Given the description of an element on the screen output the (x, y) to click on. 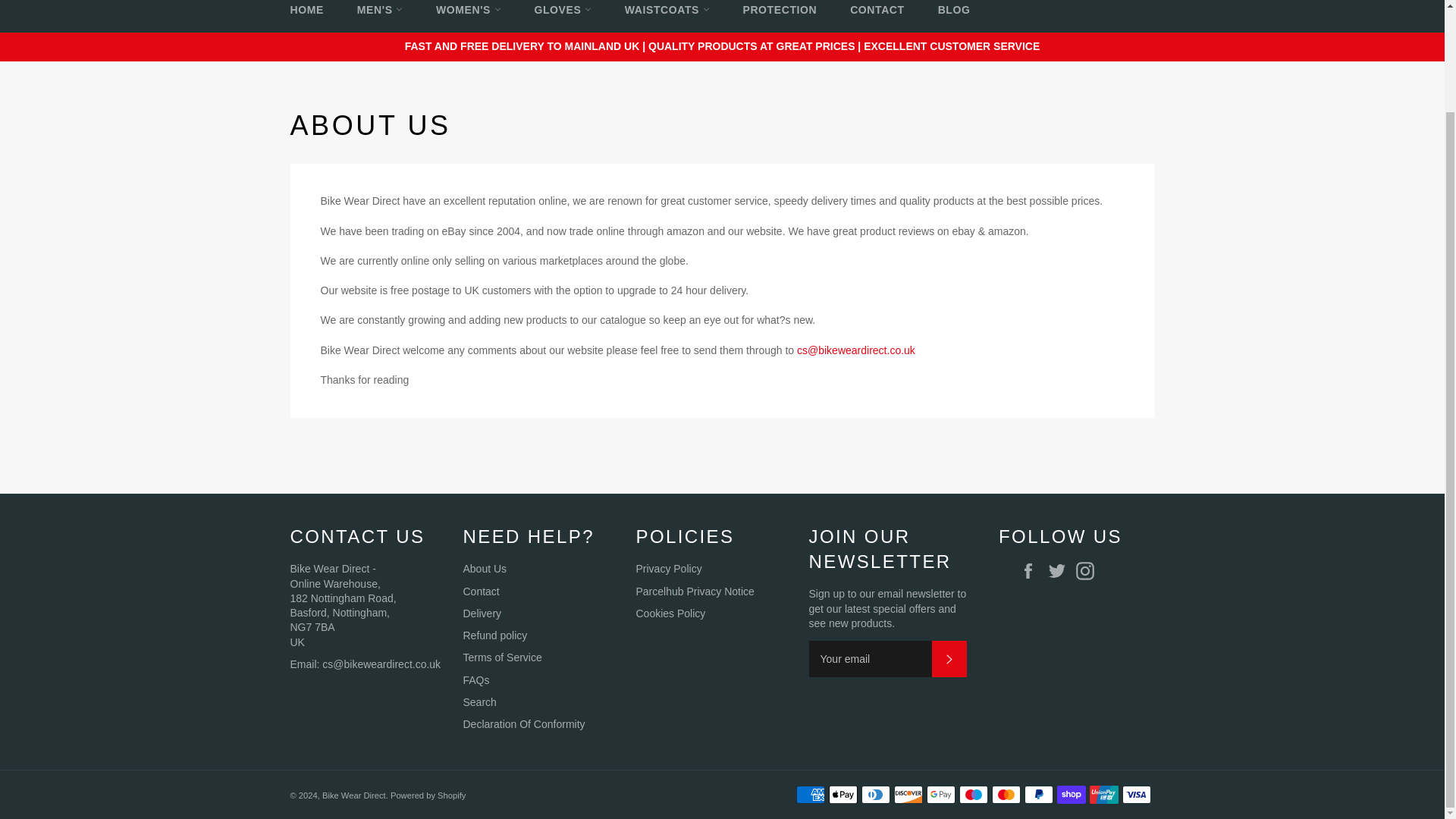
MEN'S (379, 16)
Bike Wear Direct on Facebook (1032, 570)
HOME (306, 16)
Bike Wear Direct on Instagram (1088, 570)
Bike Wear Direct on Twitter (1061, 570)
